Given the description of an element on the screen output the (x, y) to click on. 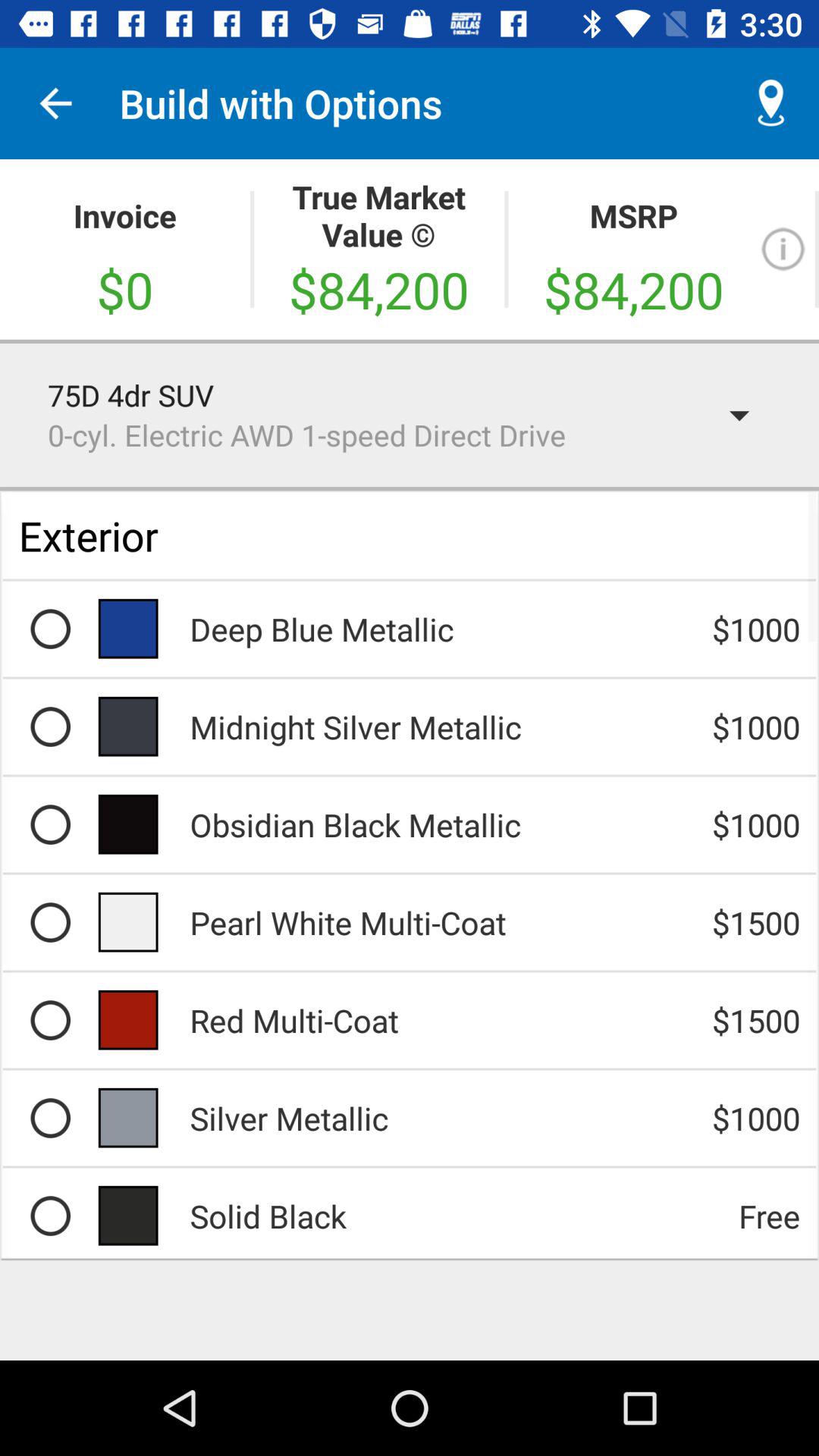
info (783, 249)
